Given the description of an element on the screen output the (x, y) to click on. 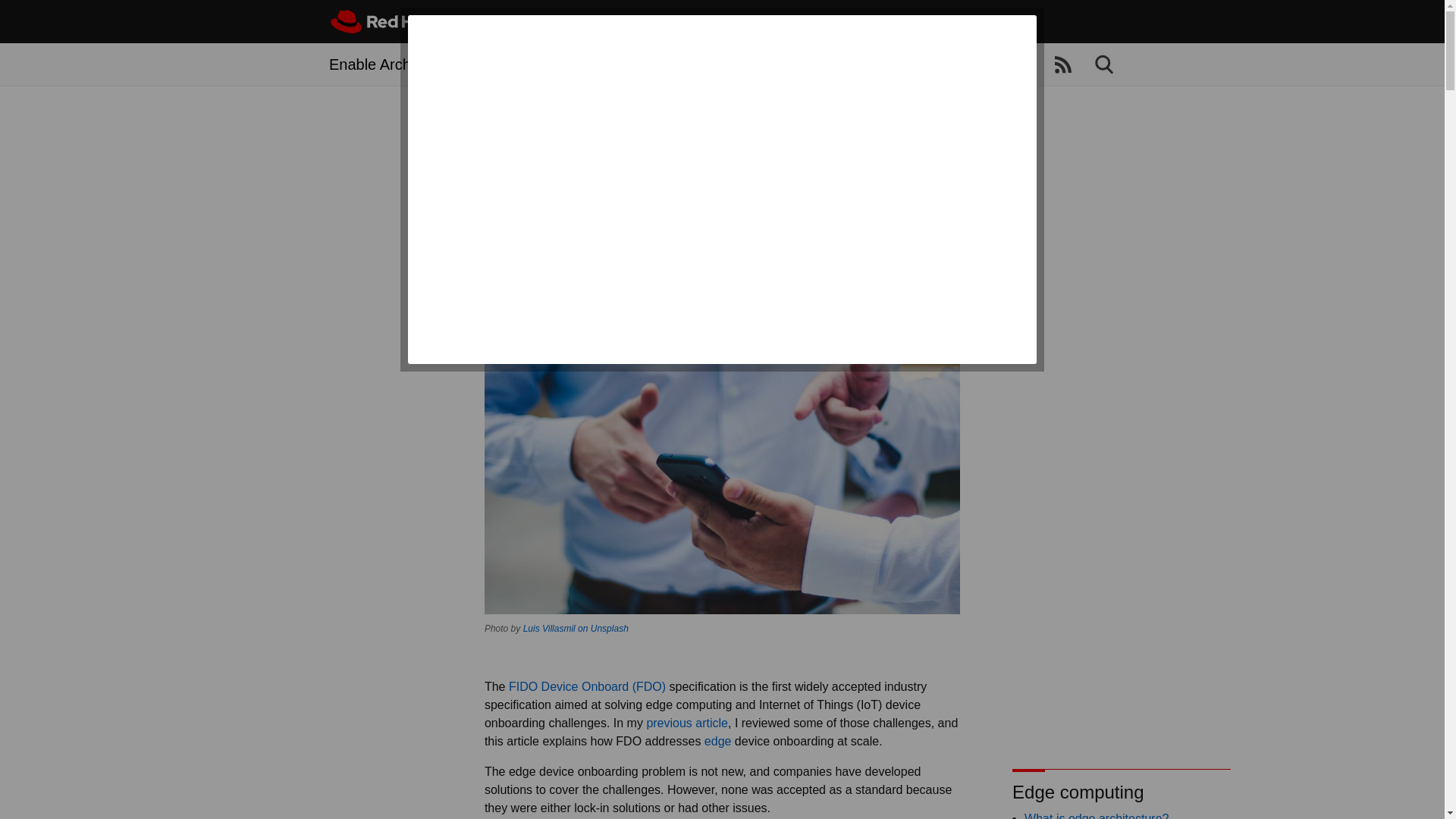
Articles (504, 64)
previous article (687, 722)
edge (718, 740)
Subscribe to our RSS feed or Email newsletter (1062, 64)
What is edge architecture? (1097, 815)
Portfolio Architecture (611, 64)
Enable Architect (384, 64)
Luis Villasmil on Unsplash (575, 628)
